Given the description of an element on the screen output the (x, y) to click on. 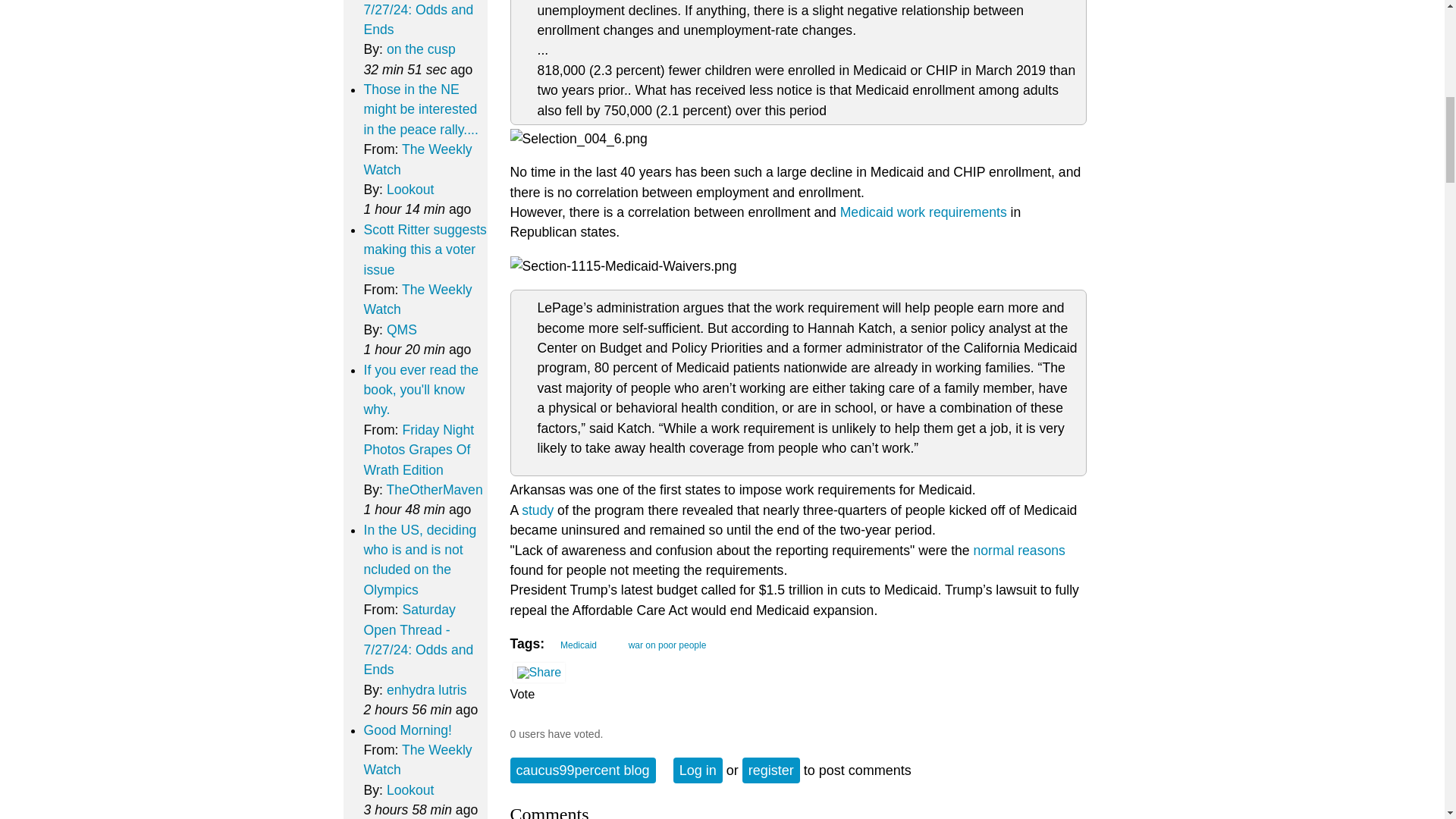
study (537, 509)
Medicaid (575, 643)
caucus99percent blog (582, 769)
register (770, 769)
Medicaid work requirements (923, 212)
Log in (697, 769)
war on poor people (664, 643)
Read the latest caucus99percent blog entries. (582, 769)
normal reasons (1019, 549)
